Given the description of an element on the screen output the (x, y) to click on. 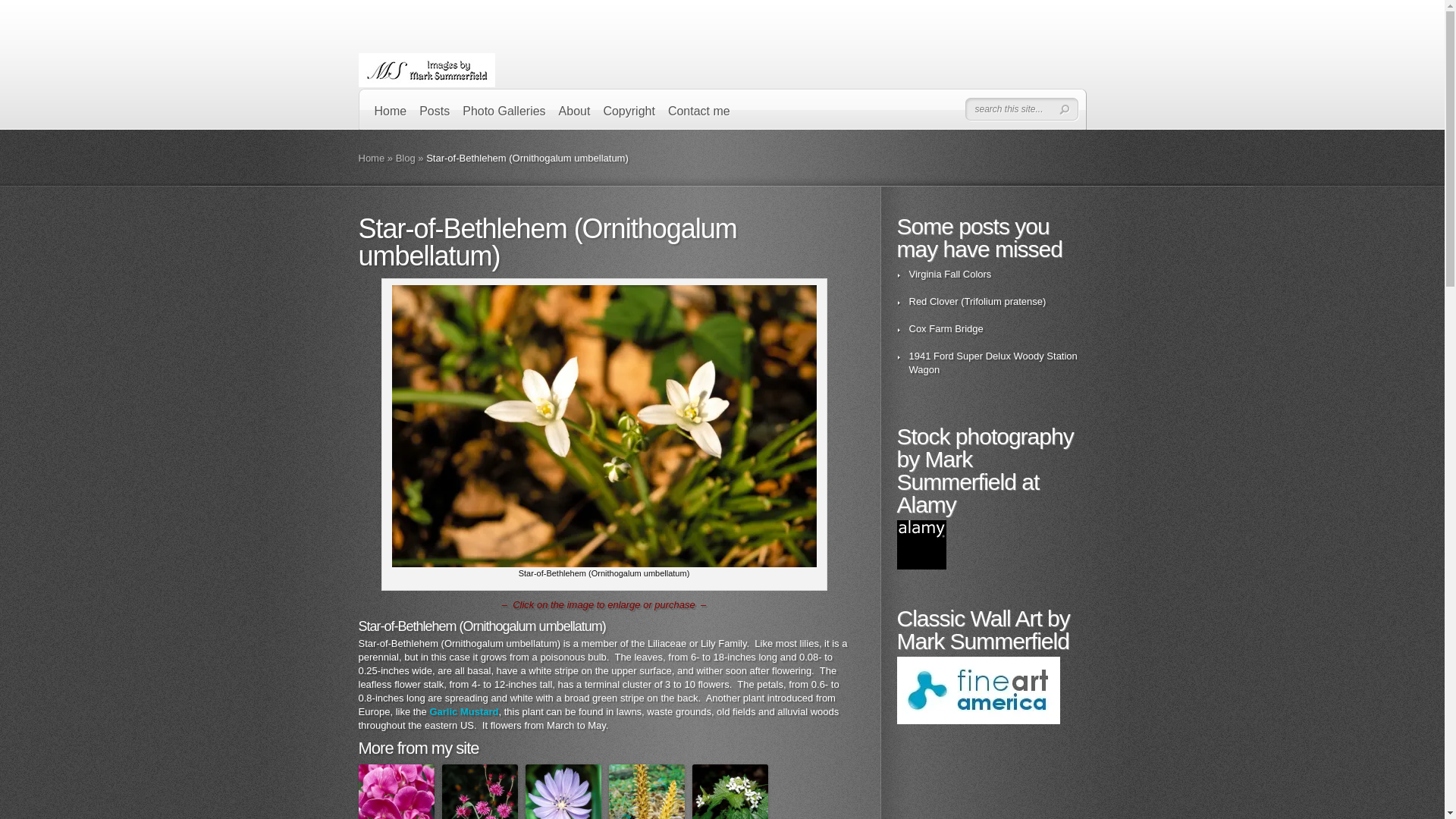
Garlic Mustard (463, 711)
Permanent link to Cox Farm Bridge (945, 328)
Home (371, 157)
Contact me (699, 115)
Sell Art Online (977, 689)
Posts (434, 115)
Permanent link to 1941 Ford Super Delux Woody Station Wagon (992, 362)
Home (390, 115)
Permanent link to Virginia Fall Colors (949, 274)
Blog (405, 157)
